Given the description of an element on the screen output the (x, y) to click on. 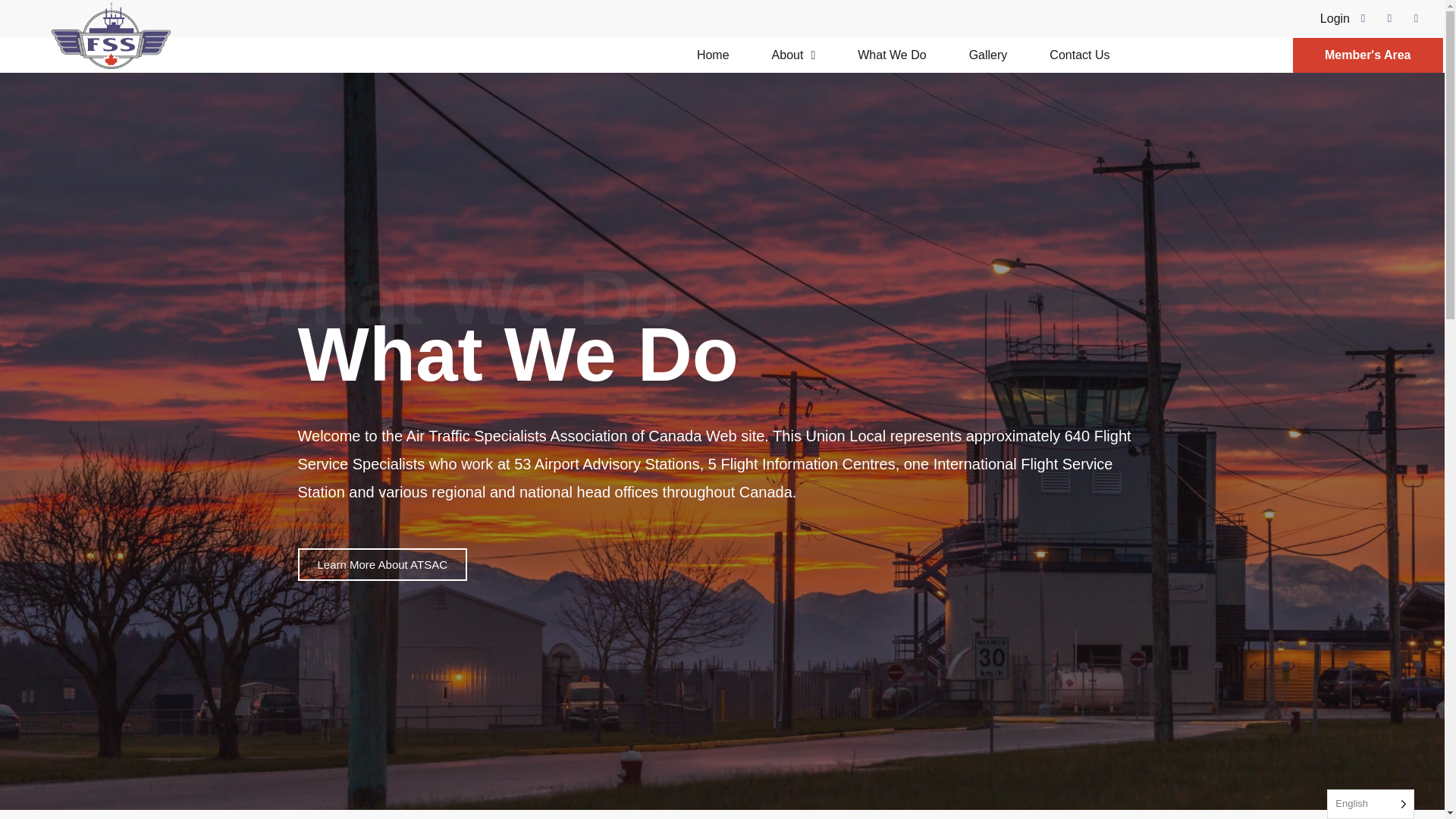
Learn More About ATSAC (381, 563)
Member's Area (1367, 54)
About (794, 54)
Home (712, 54)
Contact Us (1078, 54)
What We Do (891, 54)
Login (1334, 18)
Gallery (988, 54)
